Given the description of an element on the screen output the (x, y) to click on. 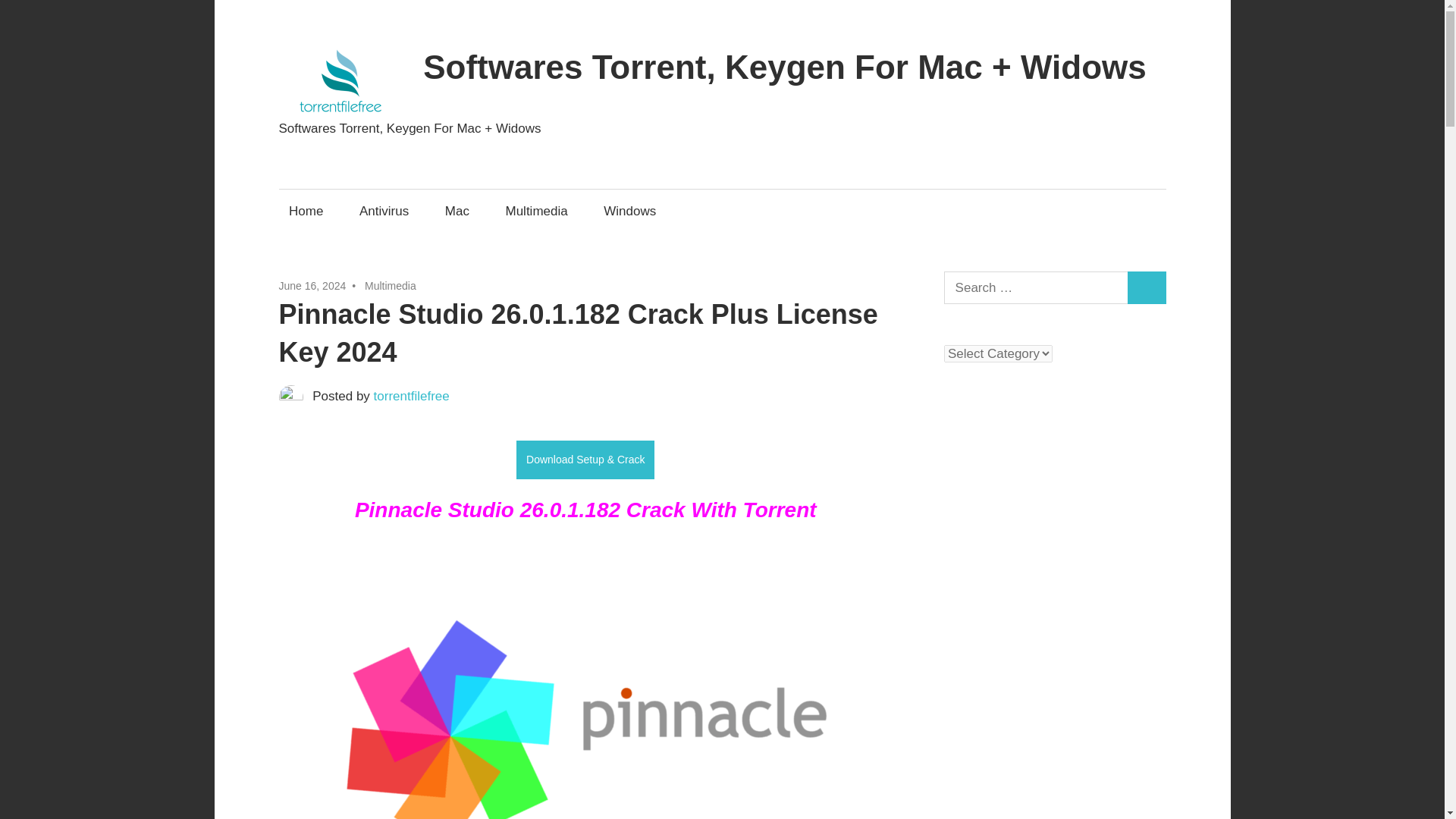
torrentfilefree (411, 396)
June 16, 2024 (312, 285)
Search for: (1035, 287)
Multimedia (390, 285)
View all posts by torrentfilefree (411, 396)
Home (306, 211)
Mac (456, 211)
Multimedia (536, 211)
Windows (630, 211)
3:25 am (312, 285)
